Given the description of an element on the screen output the (x, y) to click on. 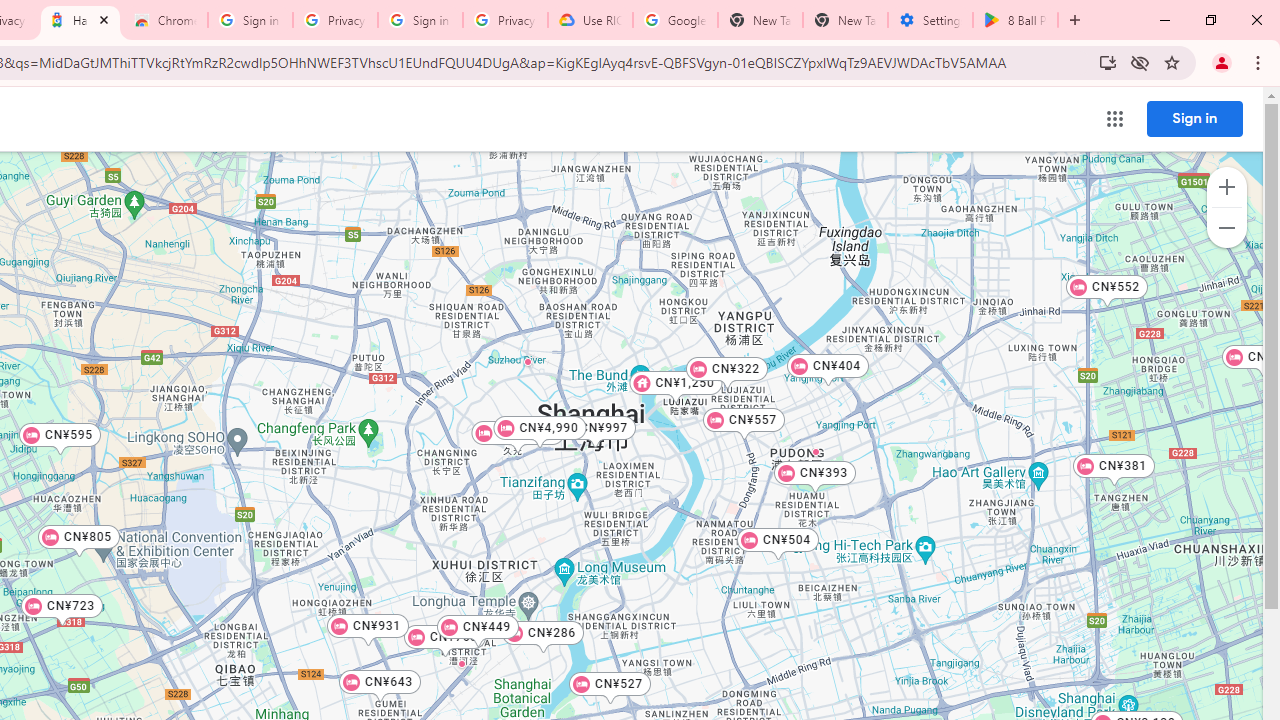
Settings - System (930, 20)
Zoom in map (1226, 187)
